Given the description of an element on the screen output the (x, y) to click on. 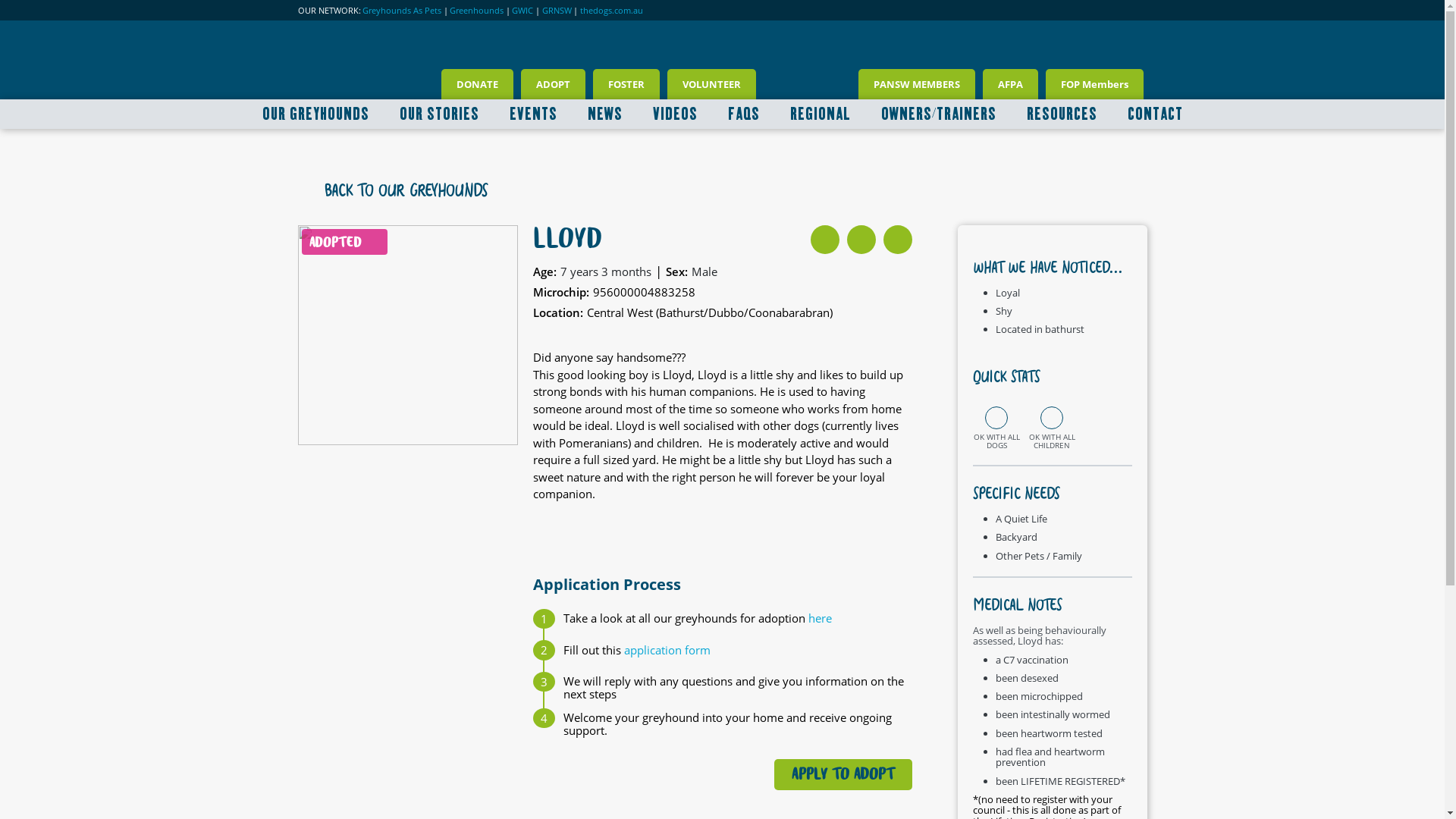
AFPA Element type: text (1010, 84)
VIDEOS Element type: text (674, 113)
OUR GREYHOUNDS Element type: text (315, 113)
BACK TO OUR GREYHOUNDS Element type: text (395, 191)
DONATE Element type: text (477, 84)
REGIONAL Element type: text (820, 113)
thedogs.com.au Element type: text (611, 10)
CONTACT Element type: text (1154, 113)
FAQS Element type: text (743, 113)
EVENTS Element type: text (533, 113)
NEWS Element type: text (604, 113)
FOP Members Element type: text (1093, 84)
Greenhounds Element type: text (476, 10)
APPLY TO ADOPT Element type: text (842, 774)
OWNERS/TRAINERS Element type: text (938, 113)
GWIC Element type: text (522, 10)
ADOPT Element type: text (552, 84)
RESOURCES Element type: text (1061, 113)
GRNSW Element type: text (556, 10)
OUR STORIES Element type: text (438, 113)
here Element type: text (819, 617)
Greyhounds As Pets Element type: text (401, 10)
VOLUNTEER Element type: text (711, 84)
FOSTER Element type: text (626, 84)
application form Element type: text (667, 649)
PANSW MEMBERS Element type: text (916, 84)
